Given the description of an element on the screen output the (x, y) to click on. 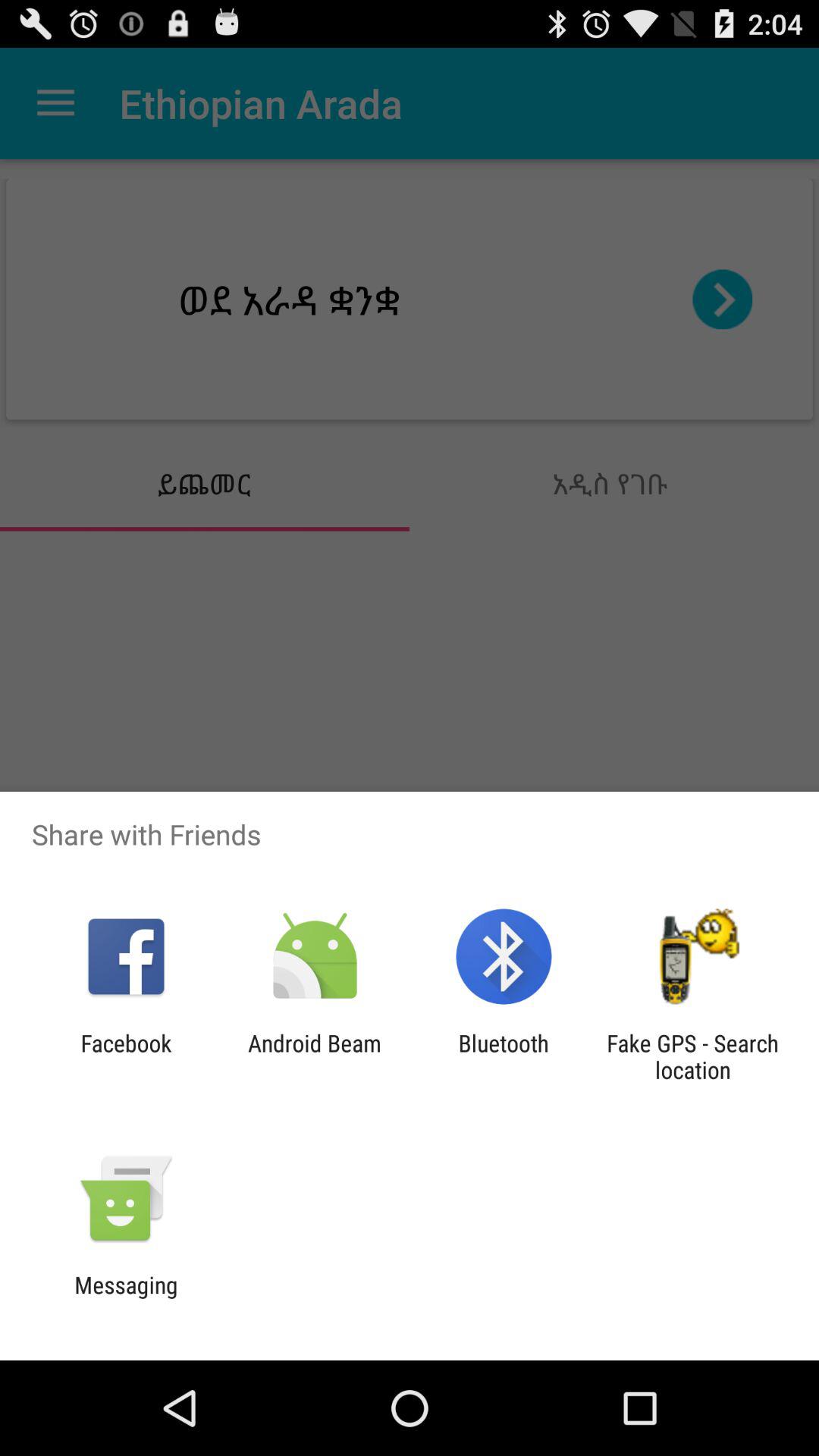
tap app next to the bluetooth (314, 1056)
